Given the description of an element on the screen output the (x, y) to click on. 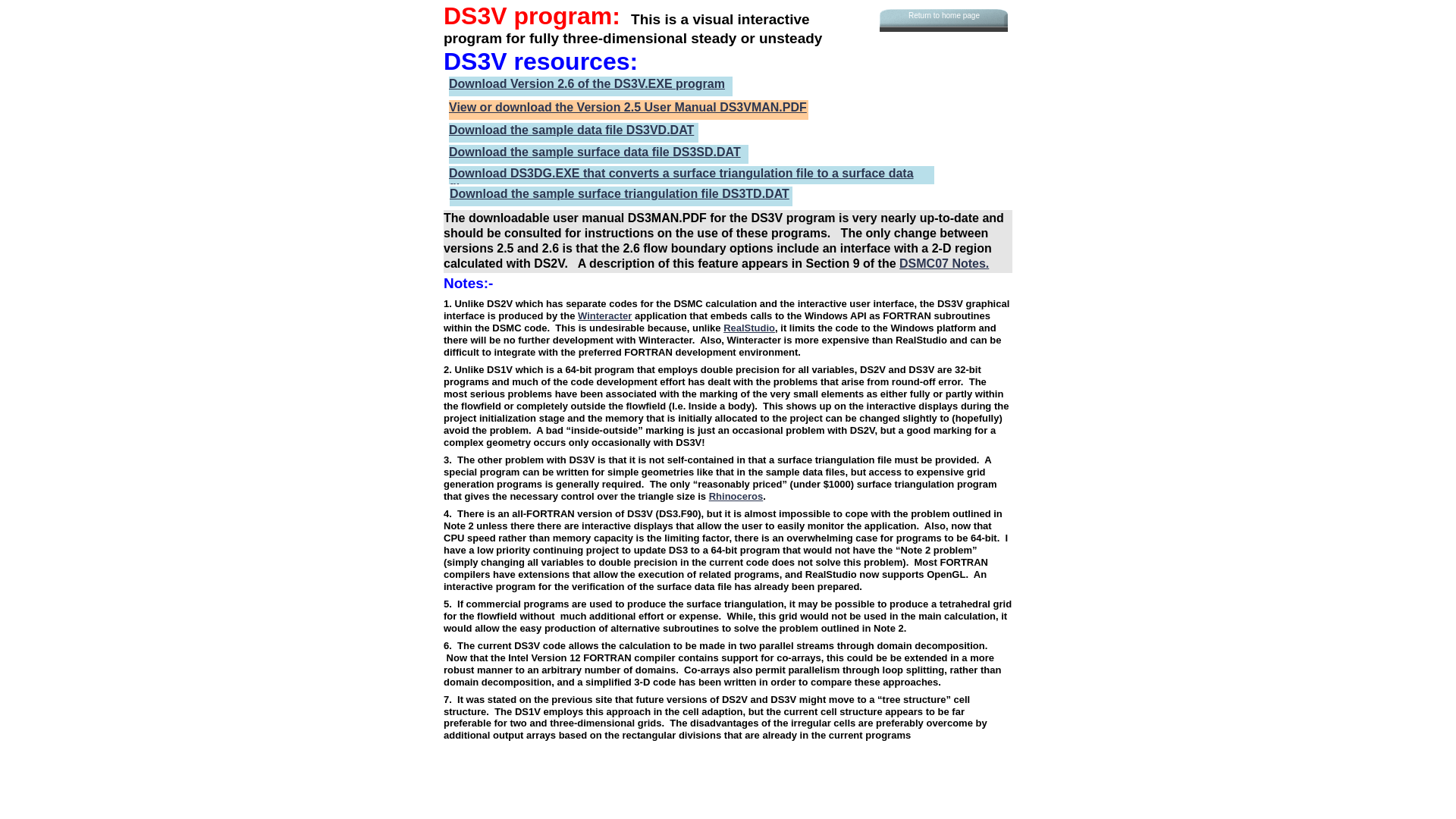
RealStudio Element type: text (749, 327)
View or download the Version 2.5 User Manual DS3VMAN.PDF Element type: text (627, 106)
Download the sample data file DS3VD.DAT Element type: text (570, 129)
Winteracter Element type: text (604, 315)
Rhinoceros Element type: text (736, 496)
Notes. Element type: text (968, 263)
Download Version 2.6 of the DS3V.EXE program Element type: text (586, 83)
Download the sample surface triangulation file DS3TD.DAT Element type: text (619, 193)
DSMC07 Element type: text (923, 263)
Download the sample surface data file DS3SD.DAT Element type: text (594, 151)
Return to home page Element type: text (943, 15)
